Given the description of an element on the screen output the (x, y) to click on. 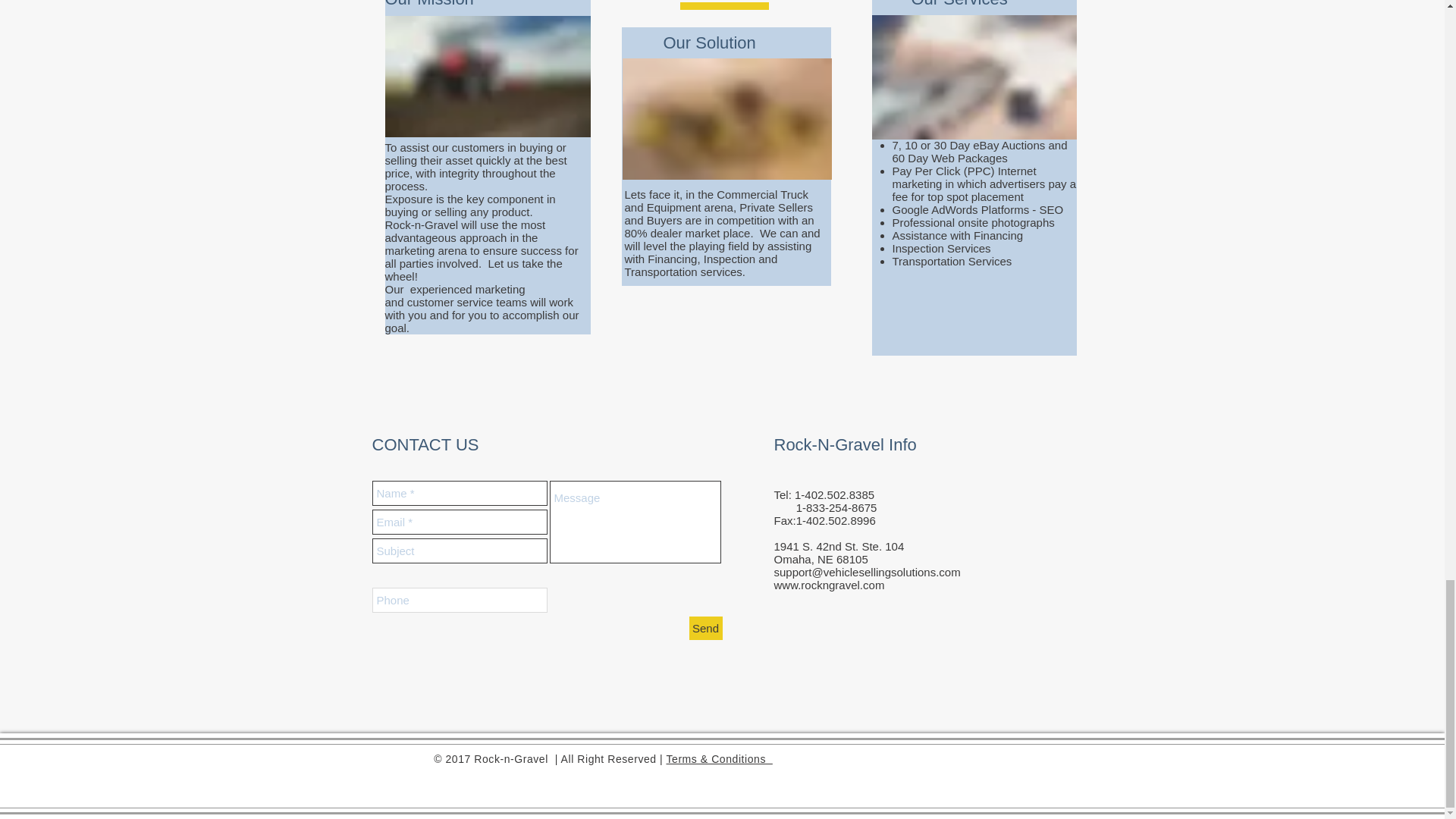
Send (705, 627)
www.rockngravel.com (828, 584)
